Given the description of an element on the screen output the (x, y) to click on. 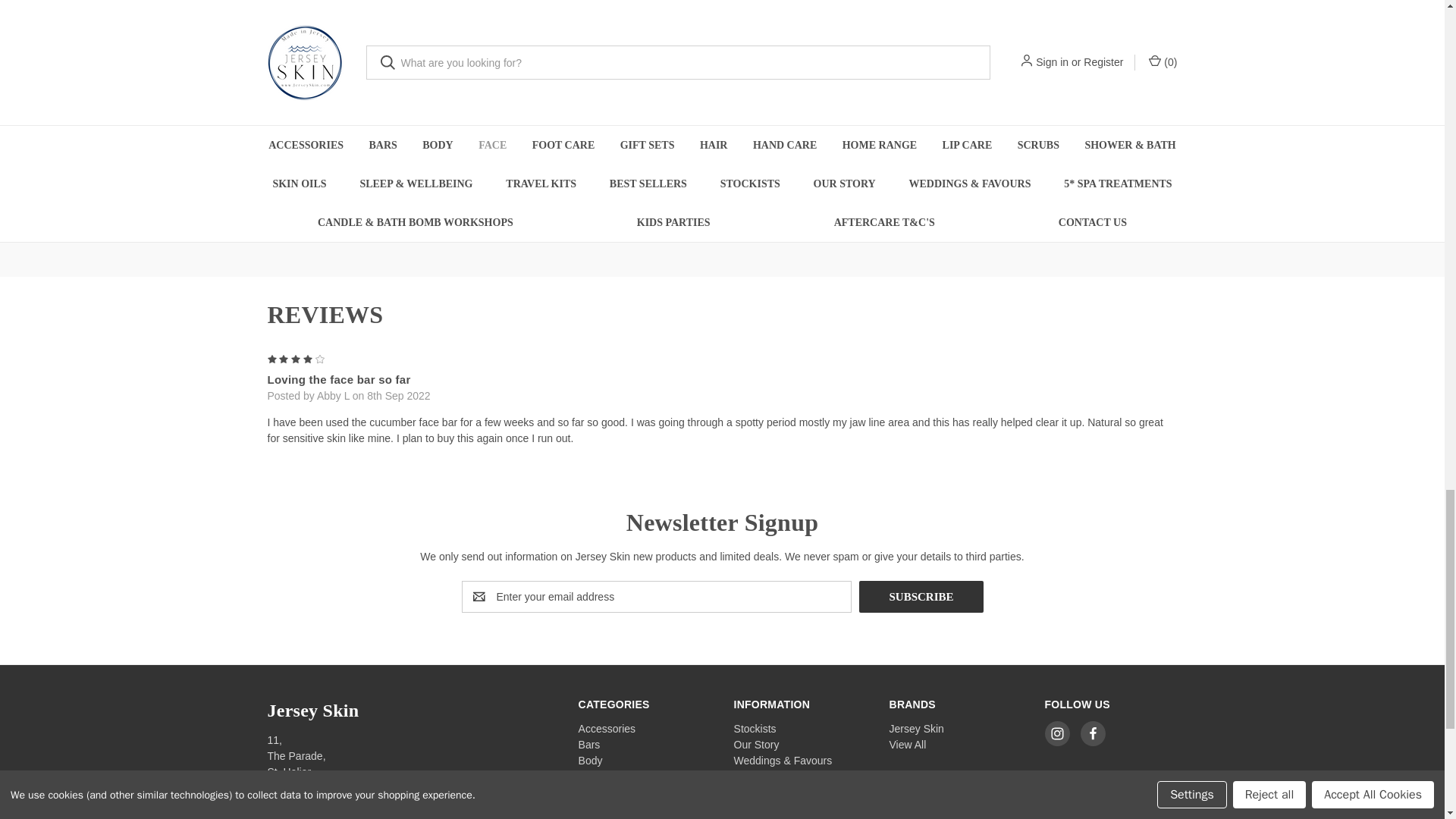
Subscribe (920, 596)
Face Toner - Flieur (1068, 92)
Compass Face Oils (837, 92)
Face Cream - Bonne Nuit (374, 92)
